Given the description of an element on the screen output the (x, y) to click on. 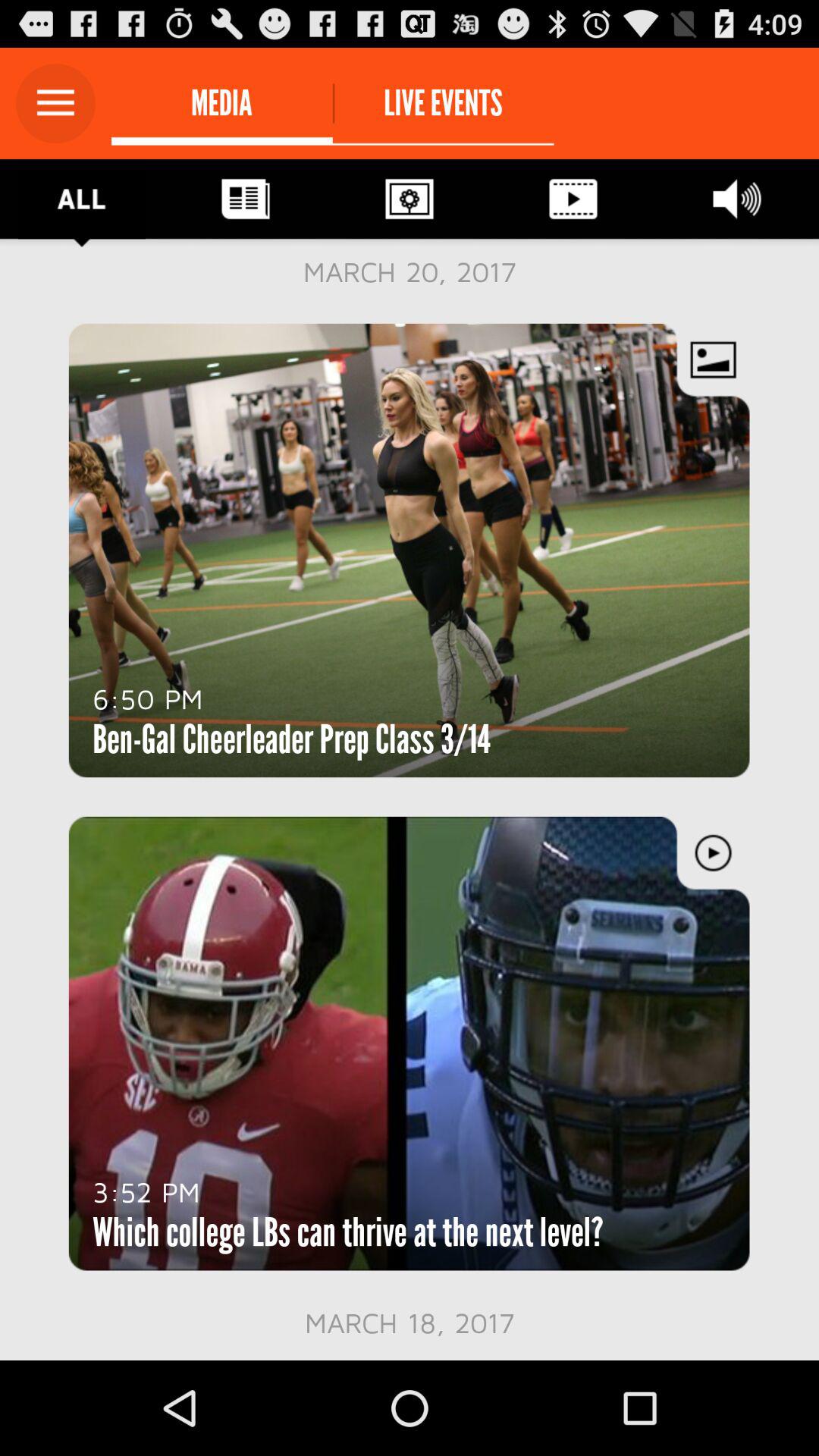
open the main menu (55, 103)
